Given the description of an element on the screen output the (x, y) to click on. 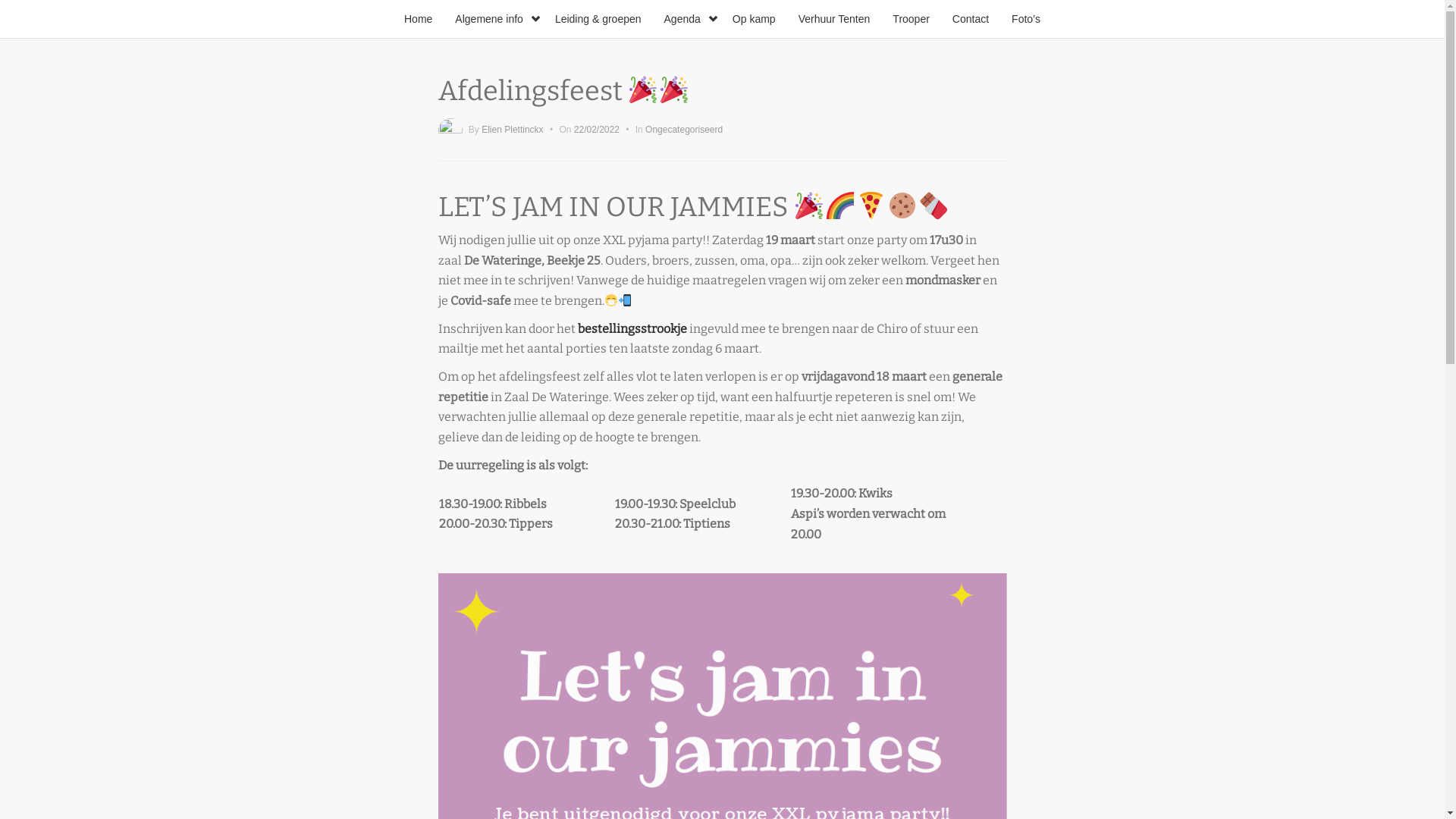
Contact Element type: text (970, 18)
Ongecategoriseerd Element type: text (683, 129)
Home Element type: text (417, 18)
bestellingsstrookje Element type: text (632, 328)
Elien Plettinckx Element type: text (511, 129)
Verhuur Tenten Element type: text (834, 18)
Algemene info Element type: text (493, 18)
Agenda Element type: text (686, 18)
Trooper Element type: text (911, 18)
22/02/2022 Element type: text (596, 129)
Op kamp Element type: text (754, 18)
Leiding & groepen Element type: text (597, 18)
